Given the description of an element on the screen output the (x, y) to click on. 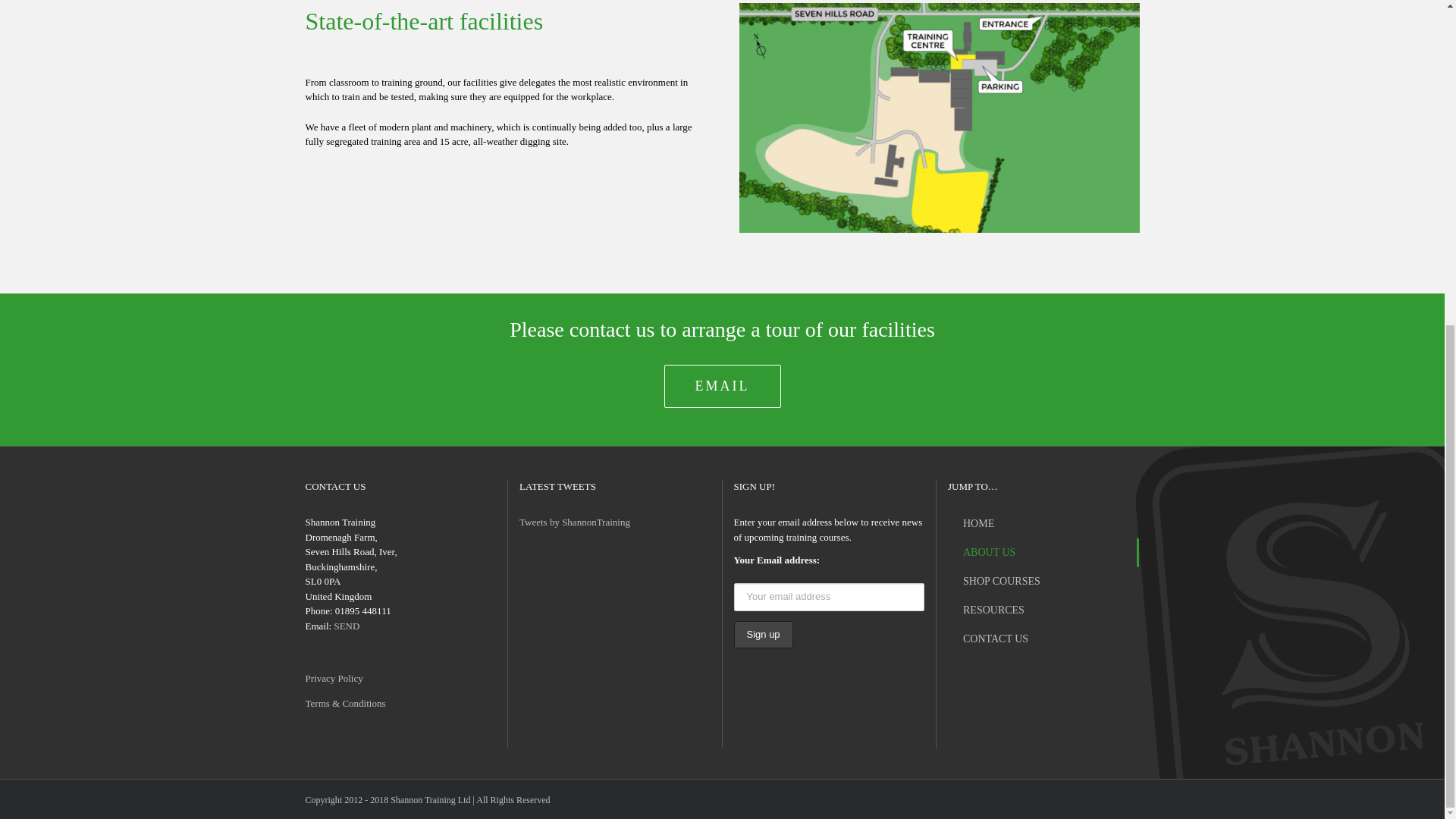
Sign up (763, 634)
